Given the description of an element on the screen output the (x, y) to click on. 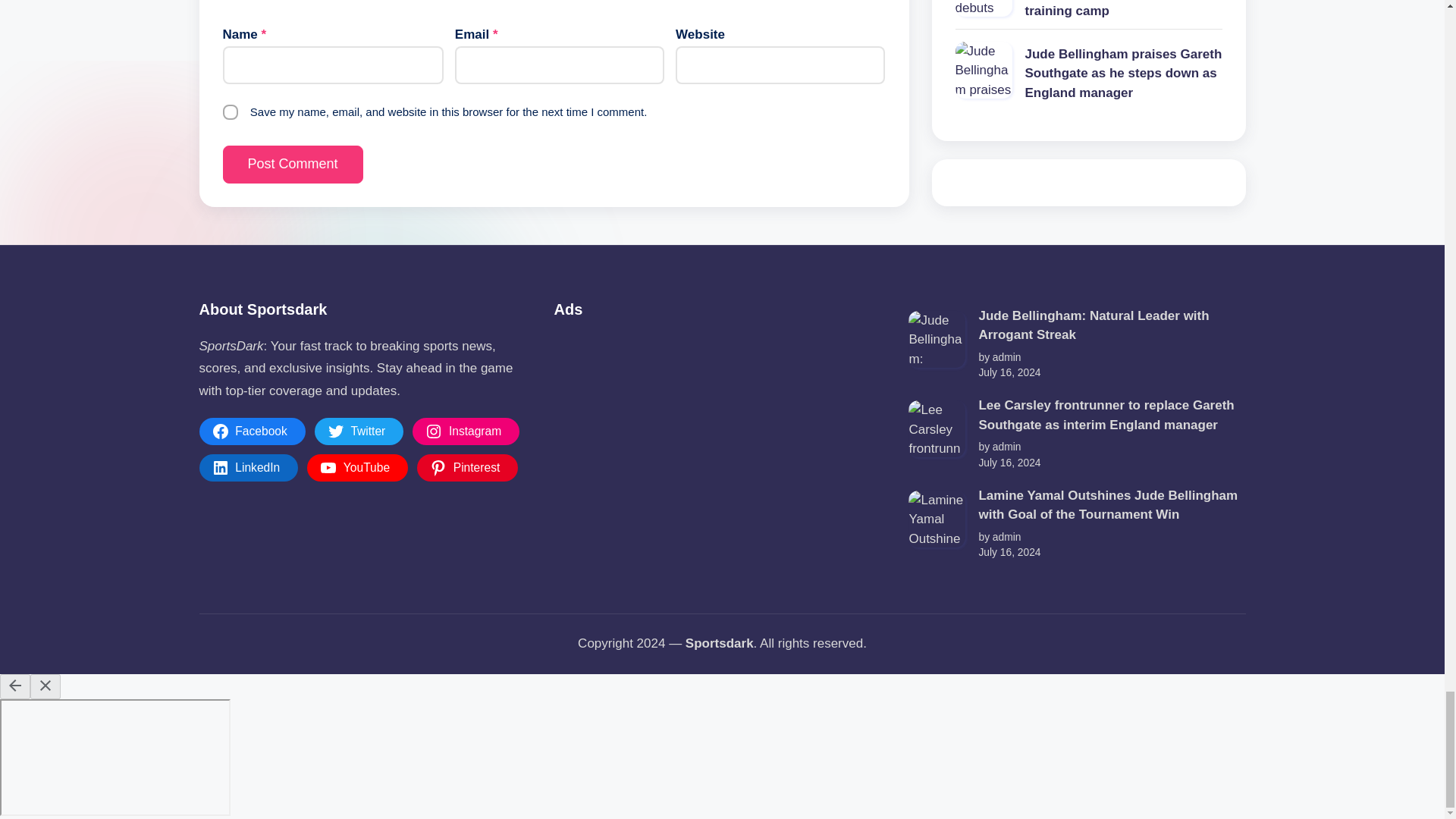
Post Comment (292, 164)
Instagram (465, 431)
Post Comment (292, 164)
Facebook (251, 431)
yes (230, 111)
Twitter (359, 431)
